Given the description of an element on the screen output the (x, y) to click on. 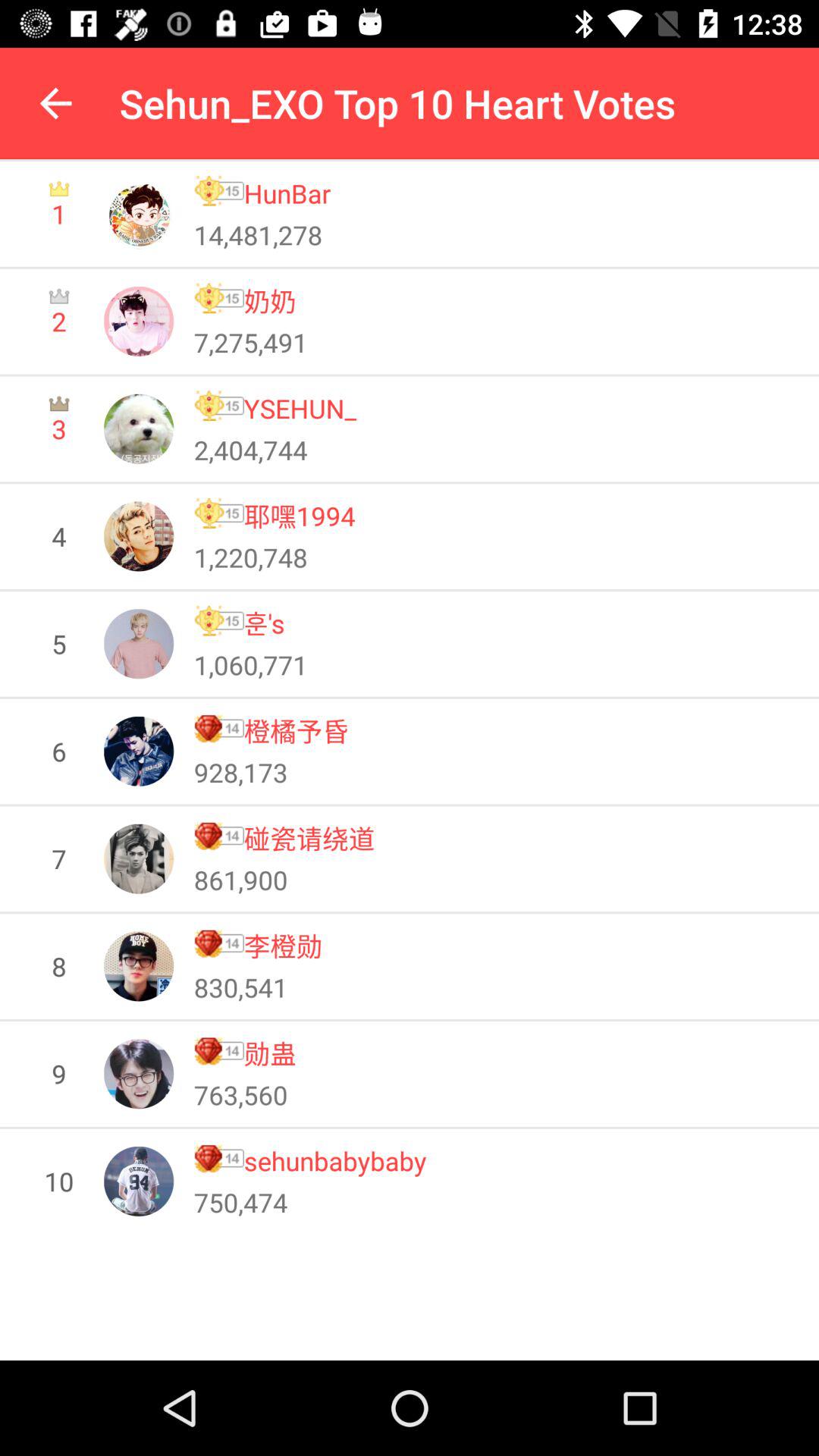
launch the icon next to the sehun_exo top 10 item (55, 103)
